Given the description of an element on the screen output the (x, y) to click on. 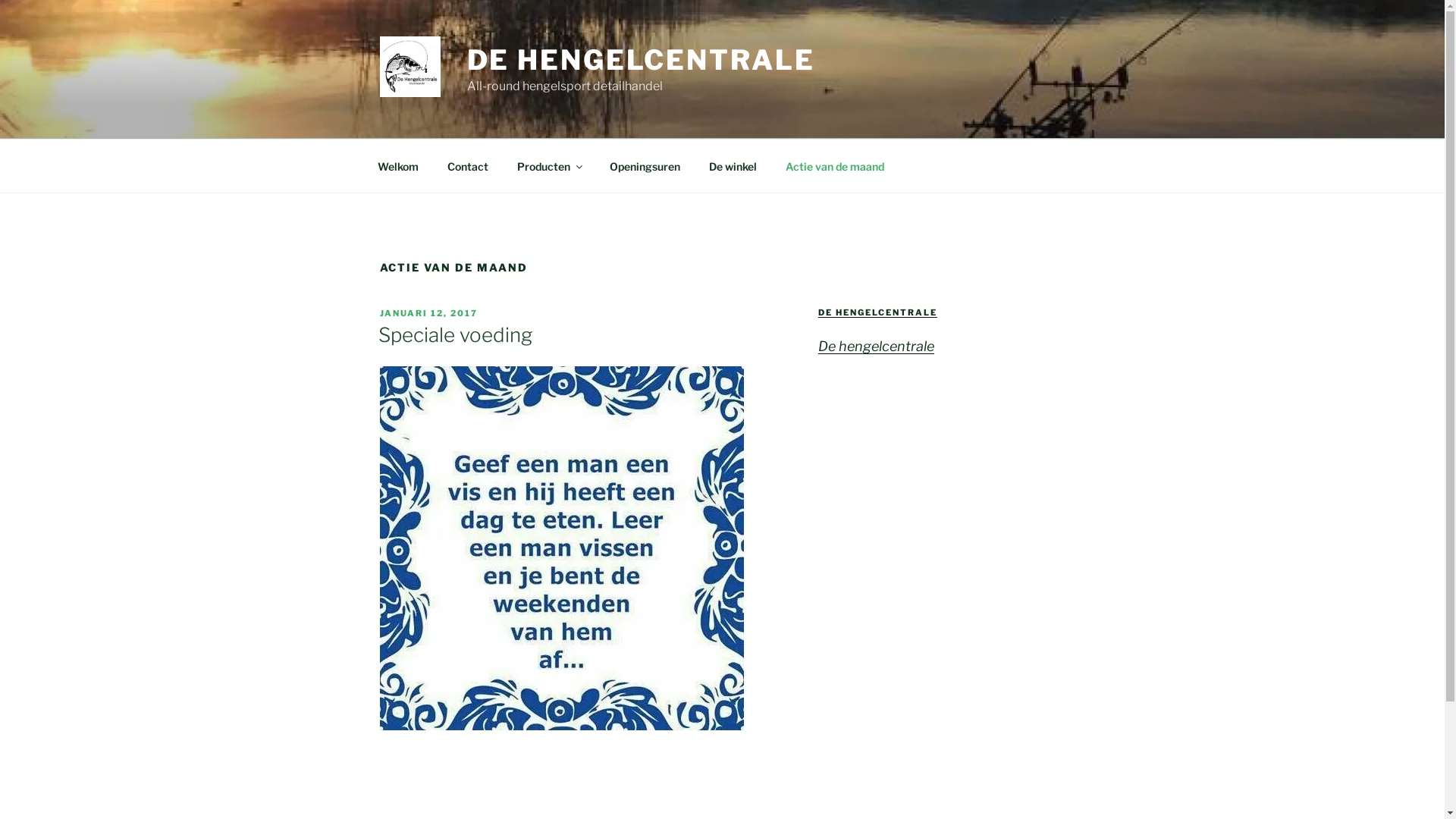
JANUARI 12, 2017 Element type: text (428, 312)
DE HENGELCENTRALE Element type: text (641, 59)
Speciale voeding Element type: text (454, 334)
De hengelcentrale Element type: text (876, 346)
Welkom Element type: text (397, 165)
Producten Element type: text (548, 165)
Contact Element type: text (467, 165)
De winkel Element type: text (733, 165)
Actie van de maand Element type: text (834, 165)
Openingsuren Element type: text (644, 165)
DE HENGELCENTRALE Element type: text (877, 312)
